Given the description of an element on the screen output the (x, y) to click on. 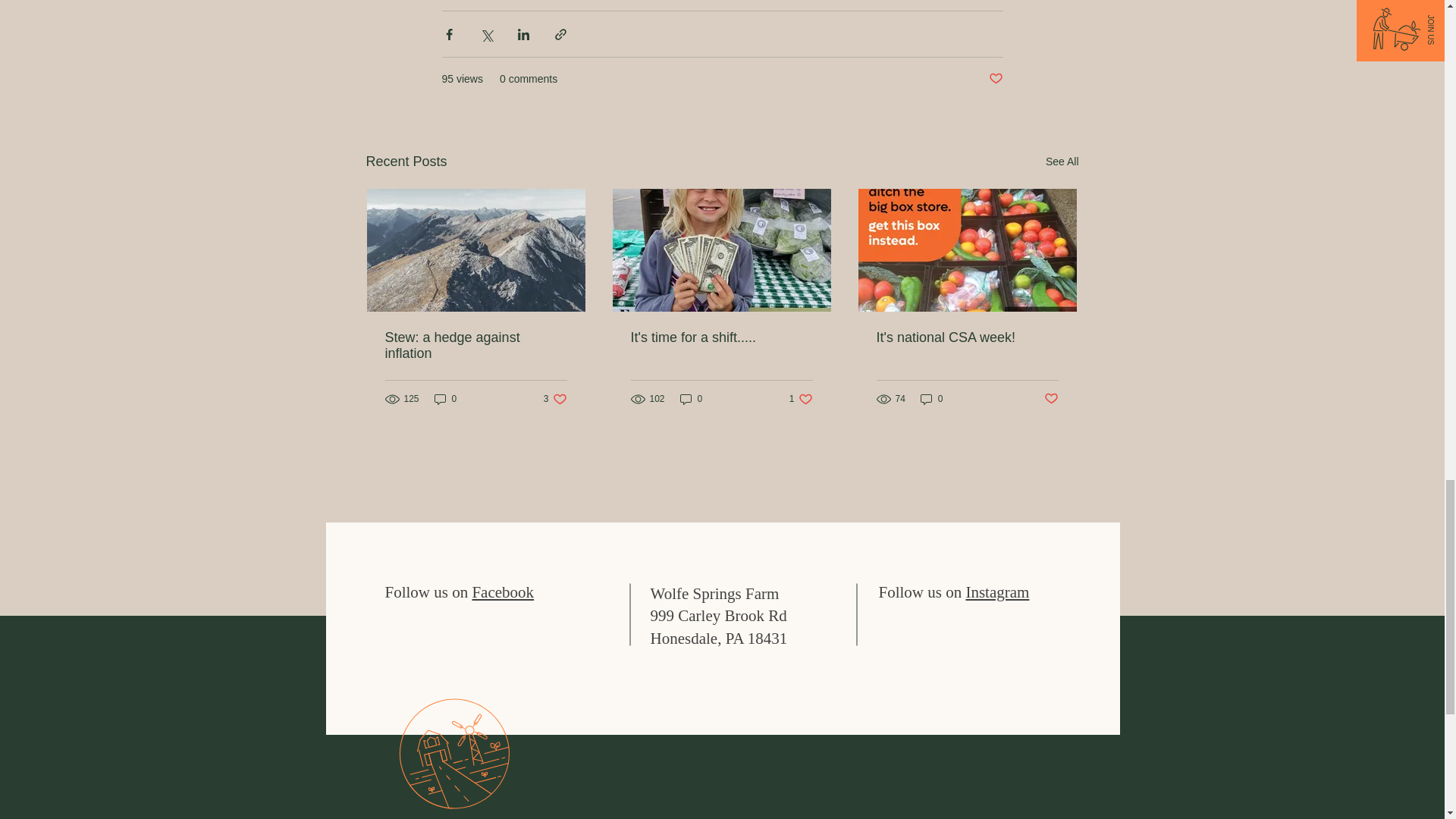
Post not marked as liked (995, 78)
See All (1061, 161)
0 (555, 398)
0 (691, 398)
Stew: a hedge against inflation (445, 398)
It's national CSA week! (476, 345)
It's time for a shift..... (967, 337)
